Given the description of an element on the screen output the (x, y) to click on. 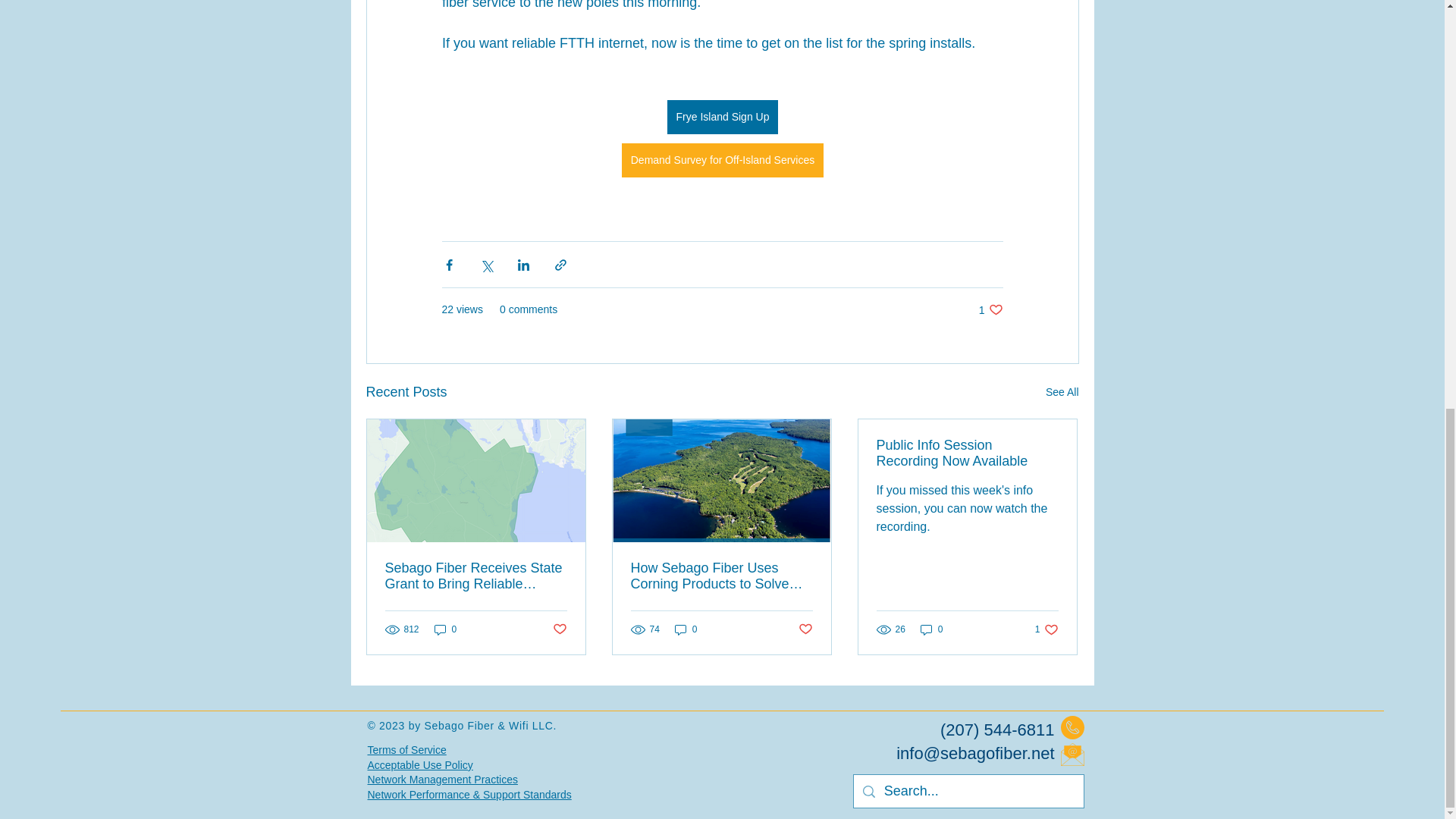
Demand Survey for Off-Island Services (722, 160)
See All (1061, 392)
0 (445, 629)
Post not marked as liked (558, 628)
Frye Island Sign Up (721, 116)
